Given the description of an element on the screen output the (x, y) to click on. 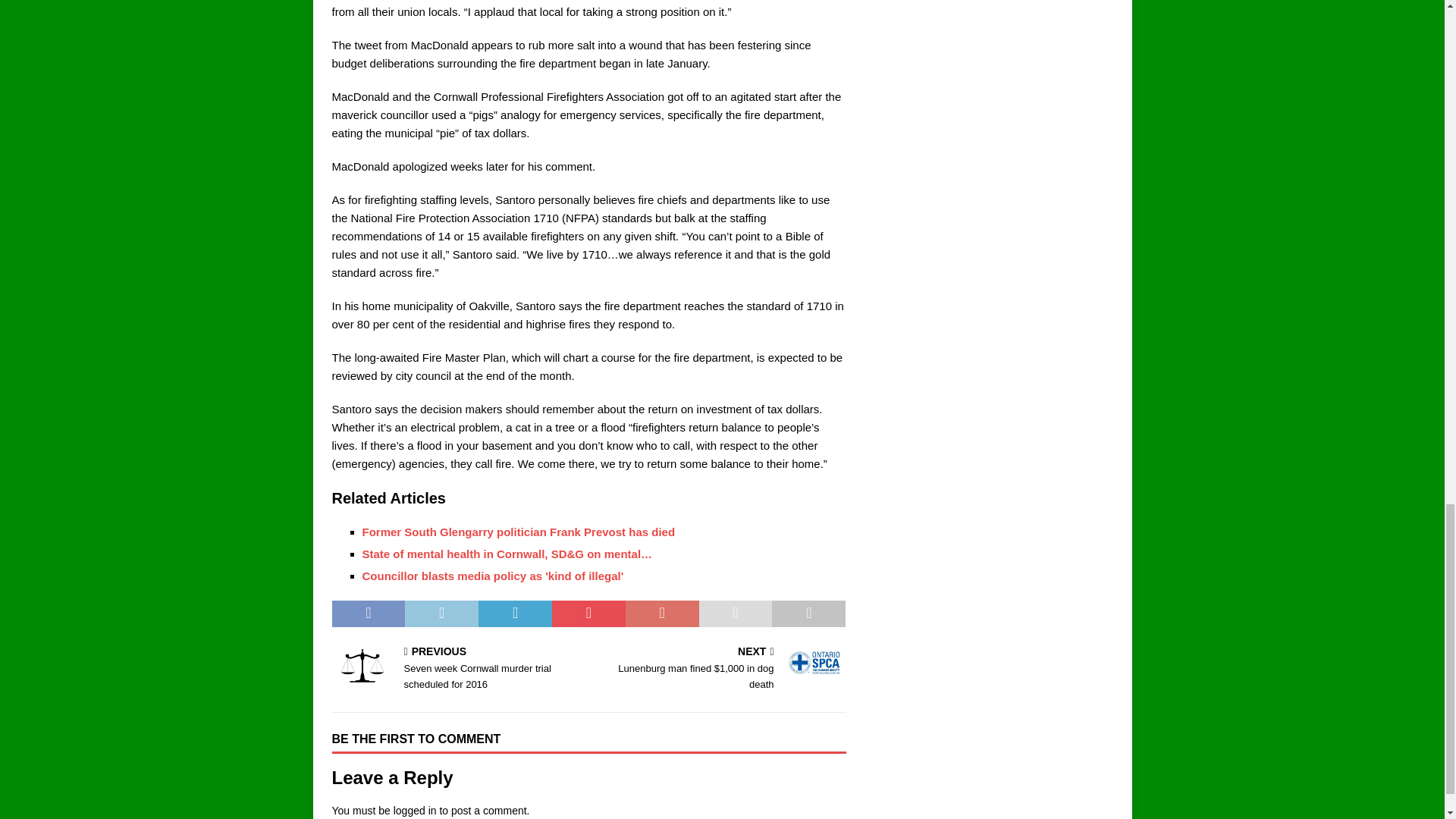
Former South Glengarry politician Frank Prevost has died (518, 531)
Councillor blasts media policy as 'kind of illegal' (493, 575)
logged in (457, 669)
